Given the description of an element on the screen output the (x, y) to click on. 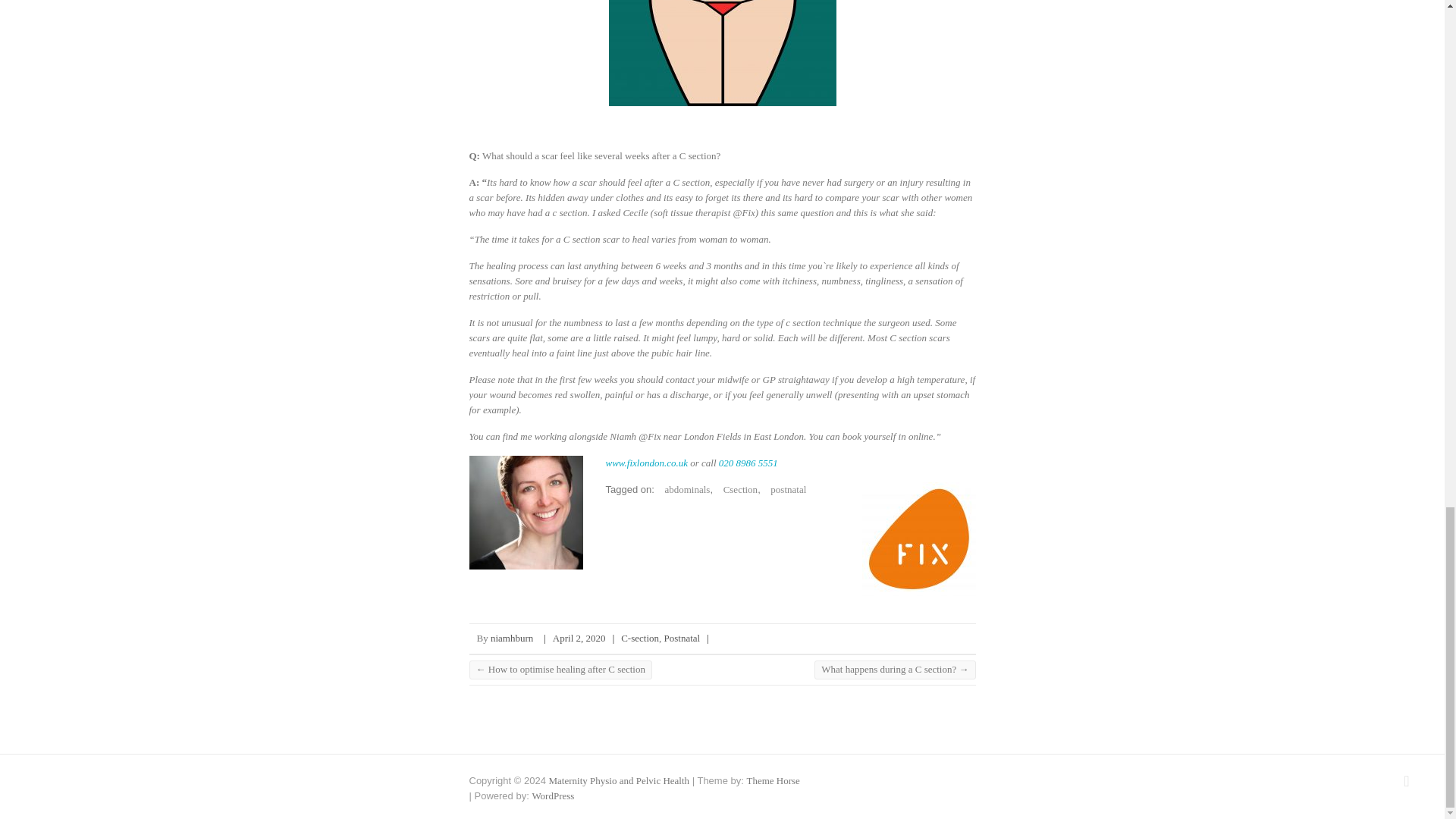
Csection (737, 489)
Theme Horse (772, 780)
Theme Horse (772, 780)
abdominals (683, 489)
Maternity Physio and Pelvic Health (618, 780)
WordPress (552, 795)
Maternity Physio and Pelvic Health (618, 780)
Postnatal (681, 637)
2:35 pm (579, 637)
C-section (640, 637)
